Given the description of an element on the screen output the (x, y) to click on. 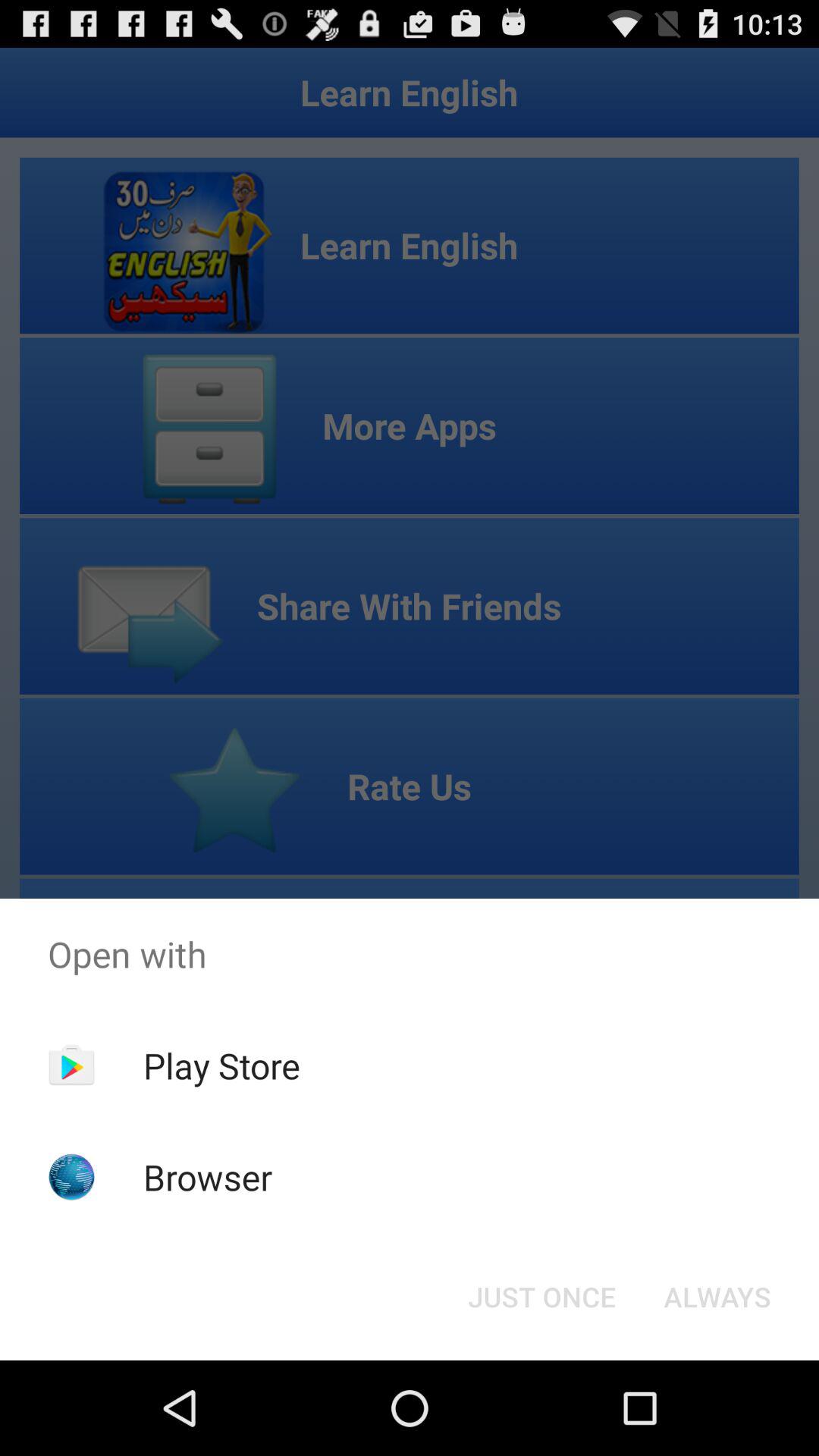
choose item next to the always (541, 1296)
